Given the description of an element on the screen output the (x, y) to click on. 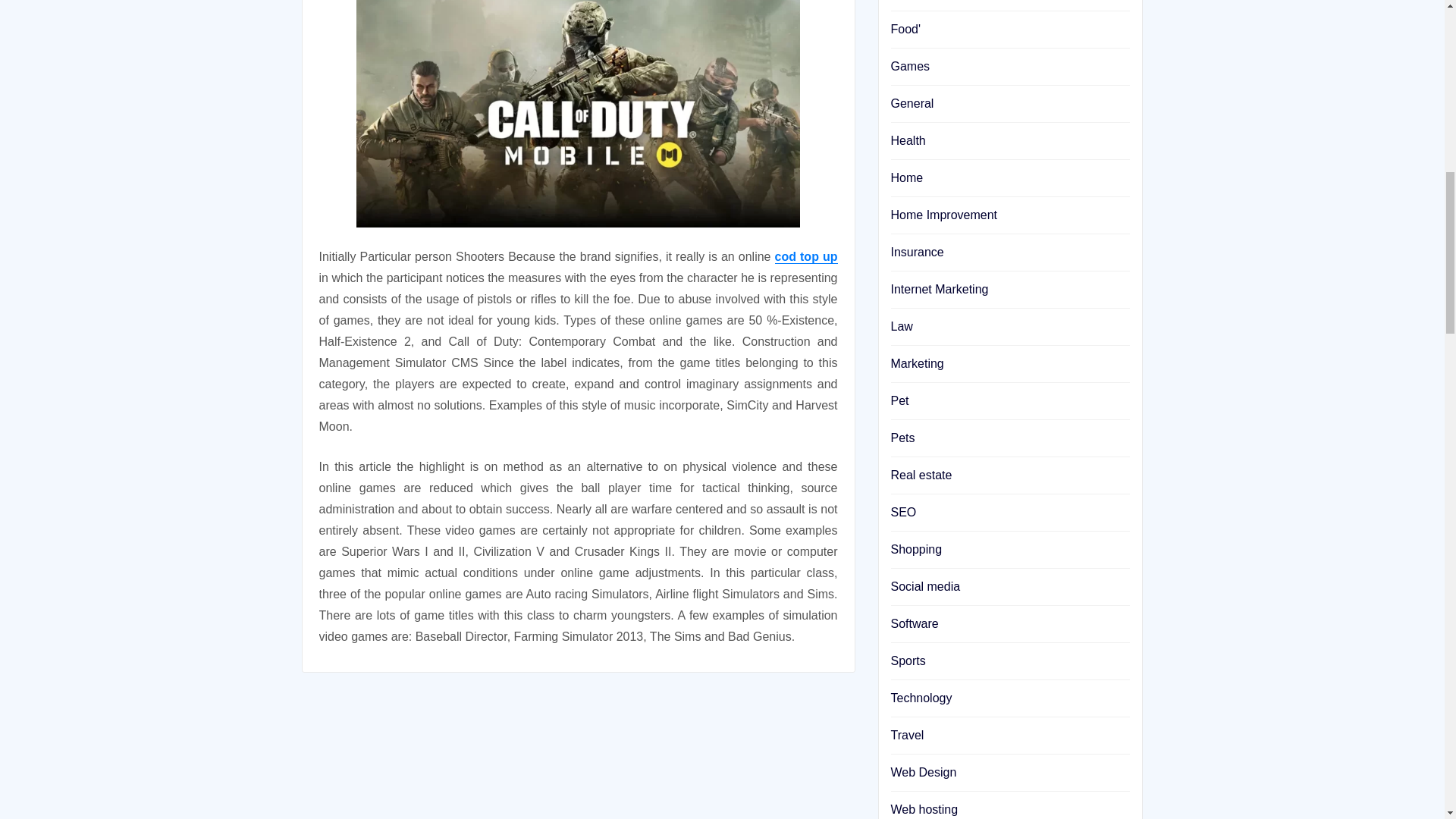
Marketing (916, 363)
Food' (904, 29)
Law (900, 326)
Home (906, 177)
Games (909, 65)
Social media (924, 585)
Pets (901, 437)
Pet (898, 400)
Health (906, 140)
Shopping (915, 549)
Insurance (916, 251)
Technology (920, 697)
Real estate (920, 474)
General (911, 103)
Sports (906, 660)
